Given the description of an element on the screen output the (x, y) to click on. 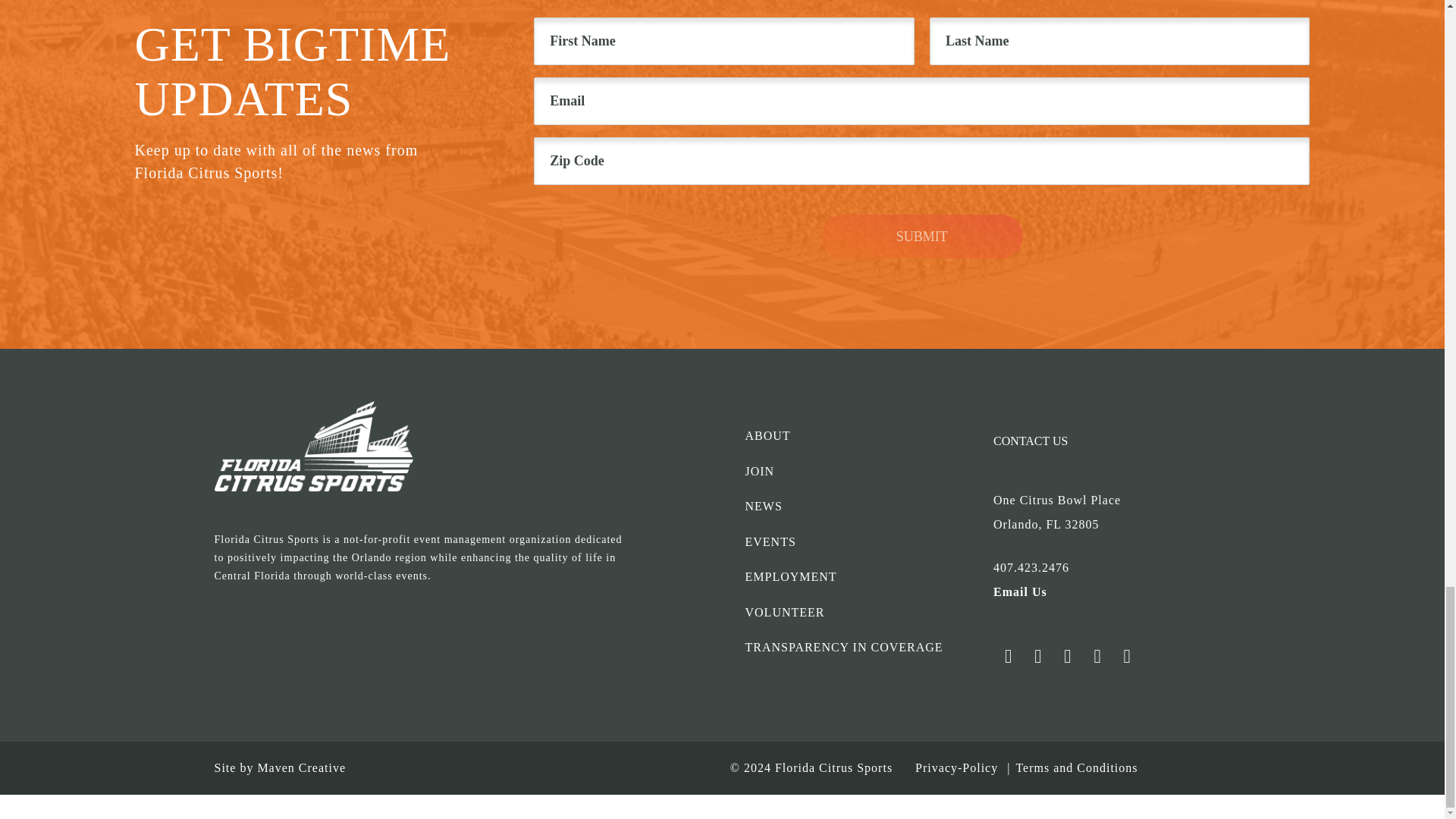
Submit (922, 236)
